Given the description of an element on the screen output the (x, y) to click on. 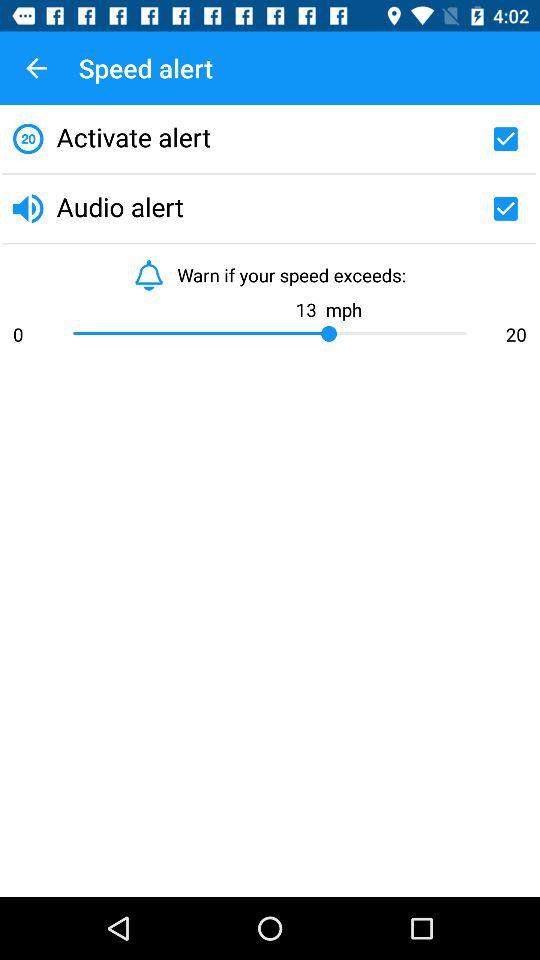
turn off item next to the speed alert icon (36, 68)
